Given the description of an element on the screen output the (x, y) to click on. 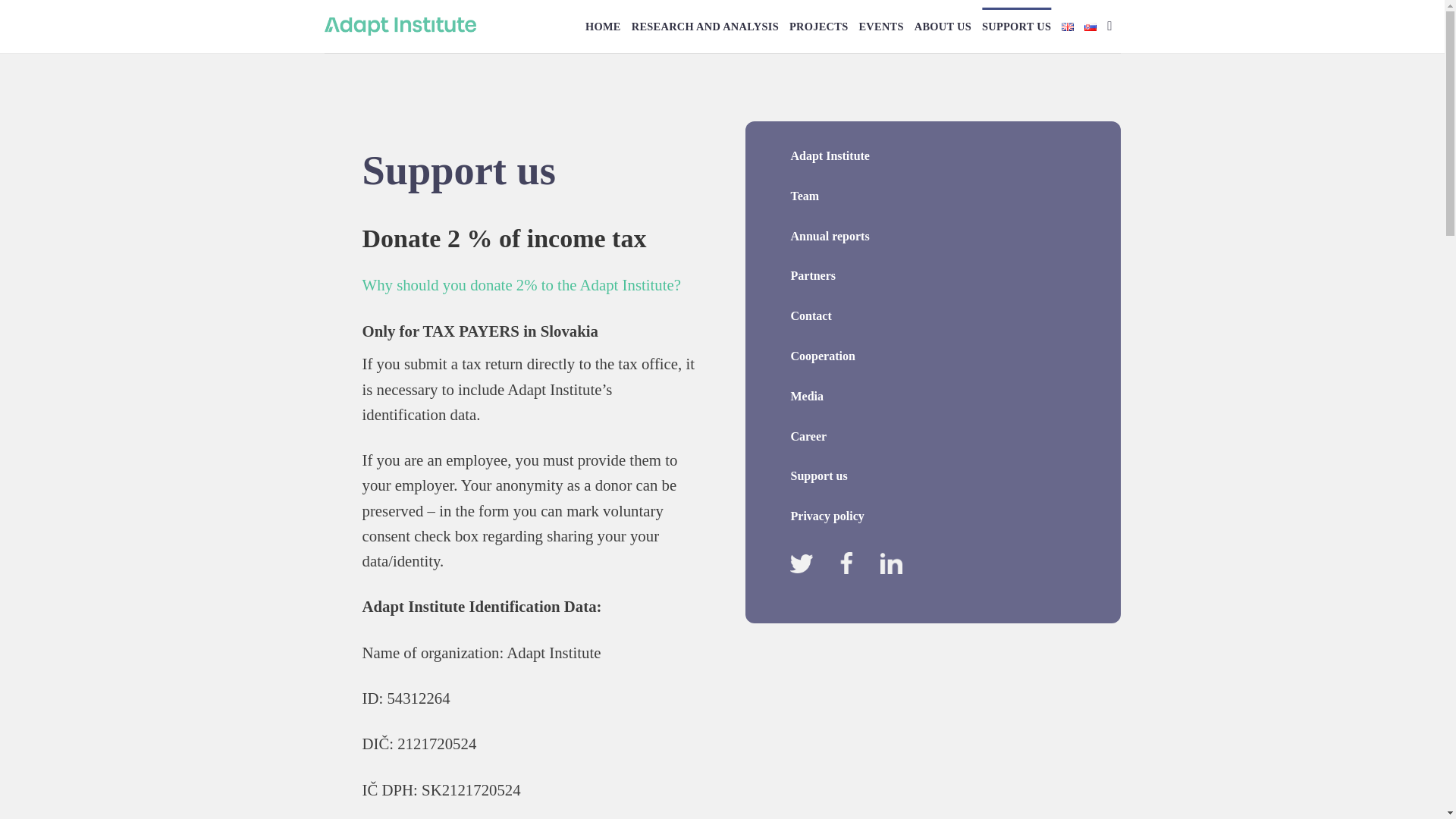
Contact (810, 315)
HOME (603, 26)
Privacy policy (826, 515)
Adapt Institute (829, 155)
ABOUT US (942, 26)
Support us (818, 475)
EVENTS (880, 26)
Media (807, 395)
RESEARCH AND ANALYSIS (704, 26)
PROJECTS (818, 26)
Partners (812, 275)
Adapt Institute - Designing a secure future (400, 25)
Annual reports (829, 236)
Career (808, 436)
Team (804, 195)
